Given the description of an element on the screen output the (x, y) to click on. 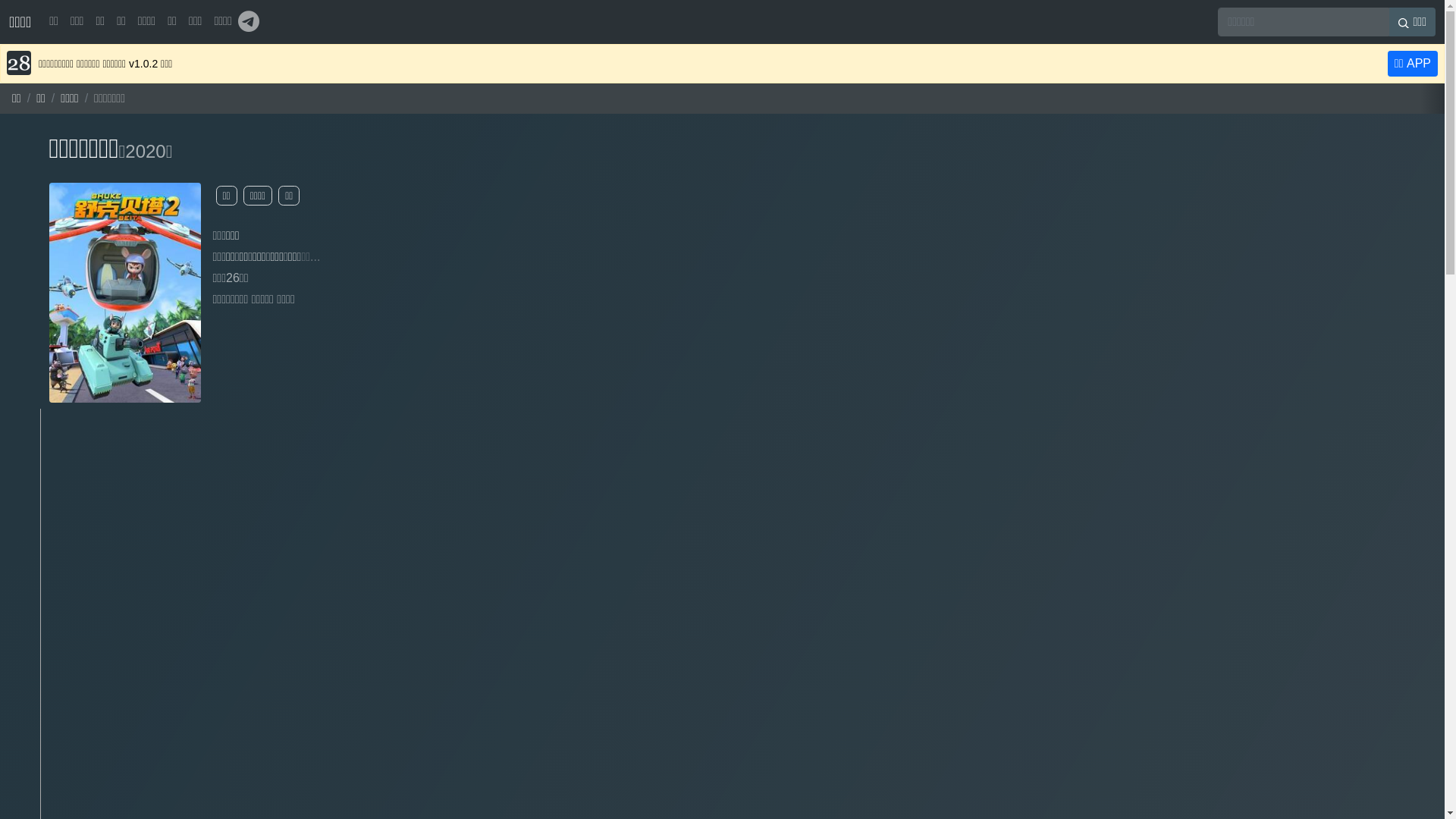
2020 Element type: text (145, 151)
